Given the description of an element on the screen output the (x, y) to click on. 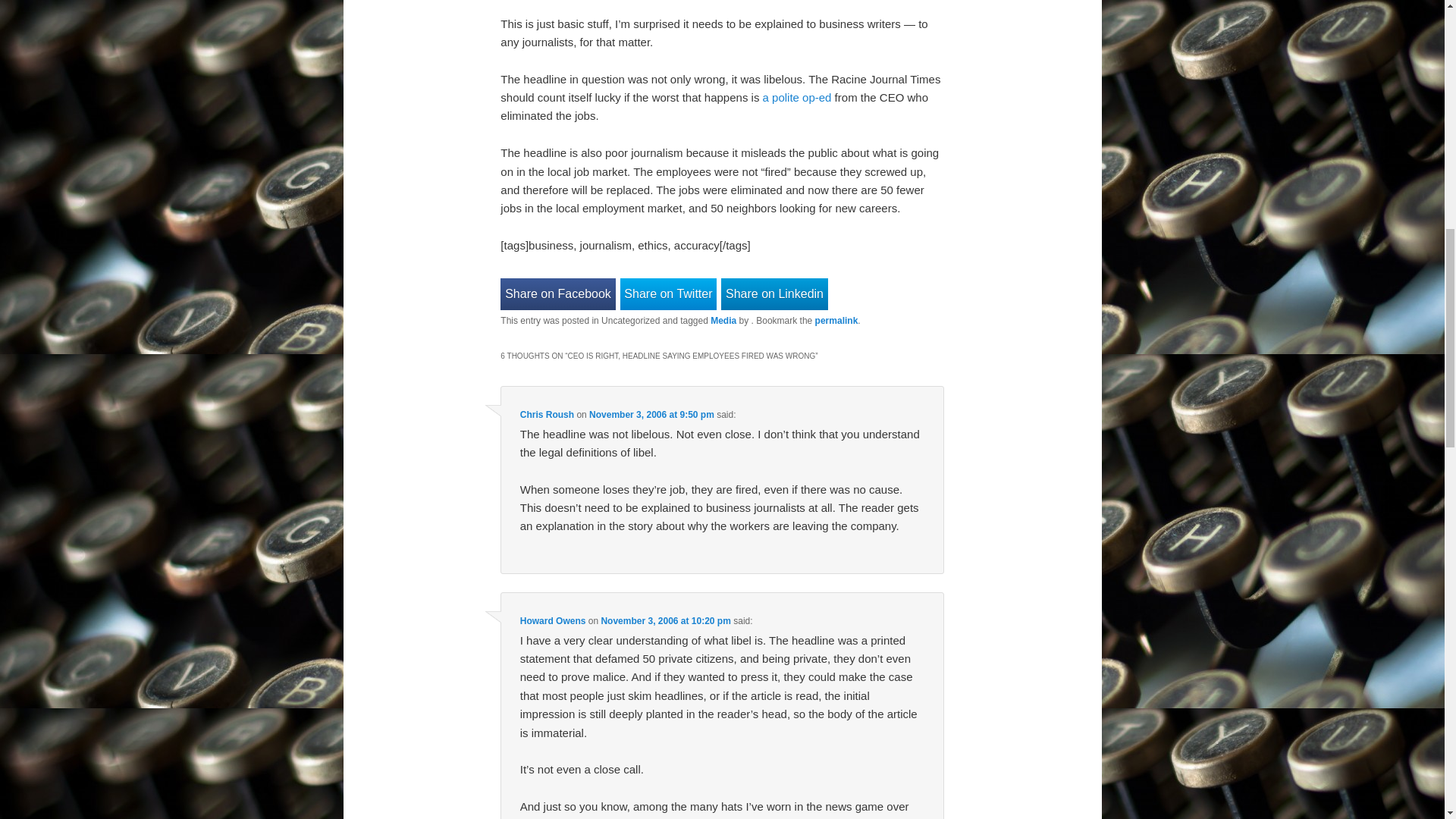
November 3, 2006 at 10:20 pm (664, 620)
Howard Owens (552, 620)
Share on Twitter (668, 294)
Share on Linkedin (774, 294)
Share on Facebook (557, 294)
Media (723, 320)
permalink (837, 320)
a polite op-ed (796, 97)
Chris Roush (546, 414)
November 3, 2006 at 9:50 pm (651, 414)
